Given the description of an element on the screen output the (x, y) to click on. 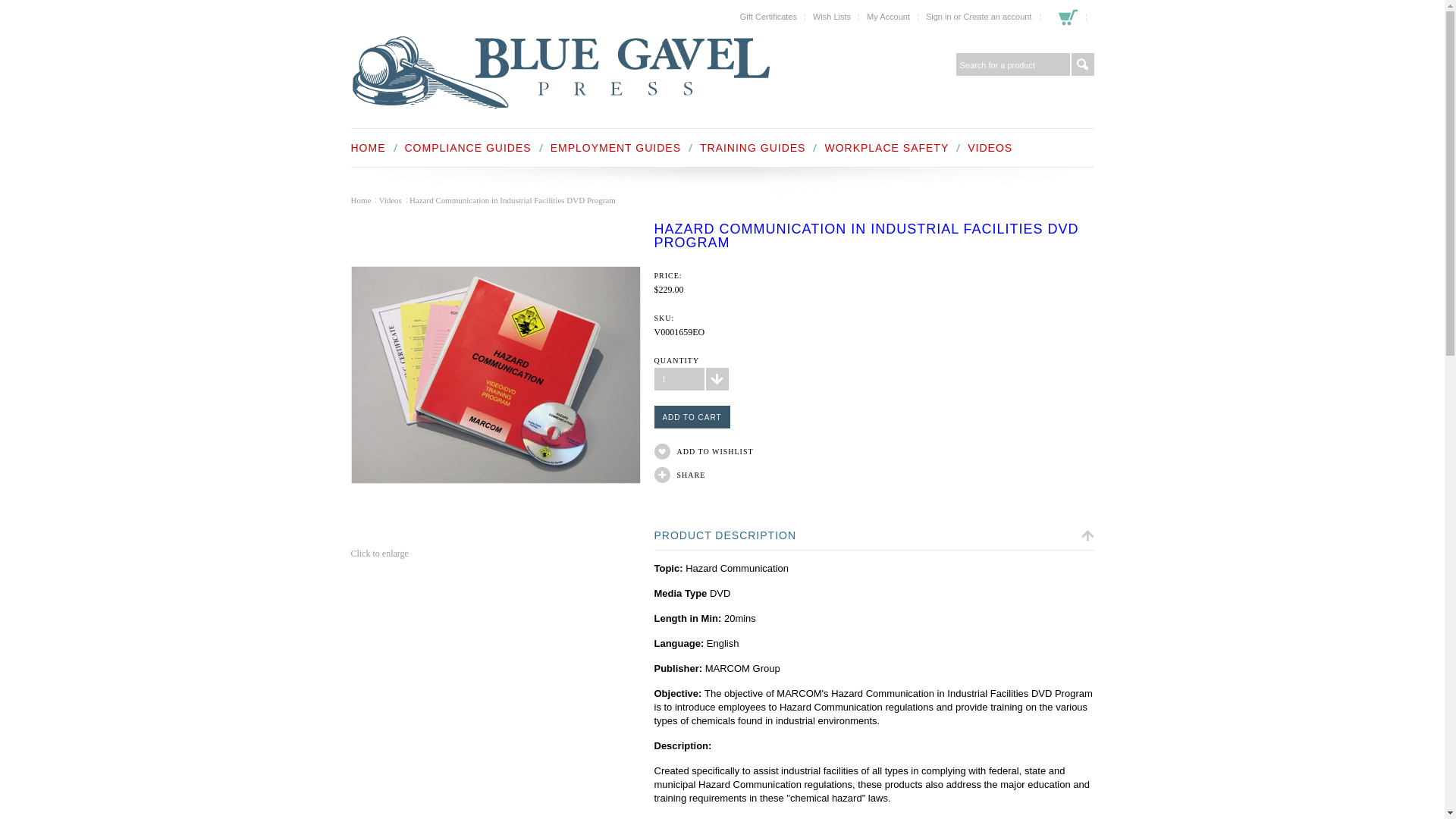
COMPLIANCE GUIDES (467, 147)
GO (1081, 64)
Sign in (939, 16)
Search for a product (1011, 64)
Image 1 (496, 374)
My Account (888, 16)
VIDEOS (989, 147)
Wish Lists (831, 16)
WORKPLACE SAFETY (886, 147)
TRAINING GUIDES (752, 147)
EMPLOYMENT GUIDES (615, 147)
Add to Cart (691, 416)
Create an account (997, 16)
HOME (367, 147)
Gift Certificates (767, 16)
